Given the description of an element on the screen output the (x, y) to click on. 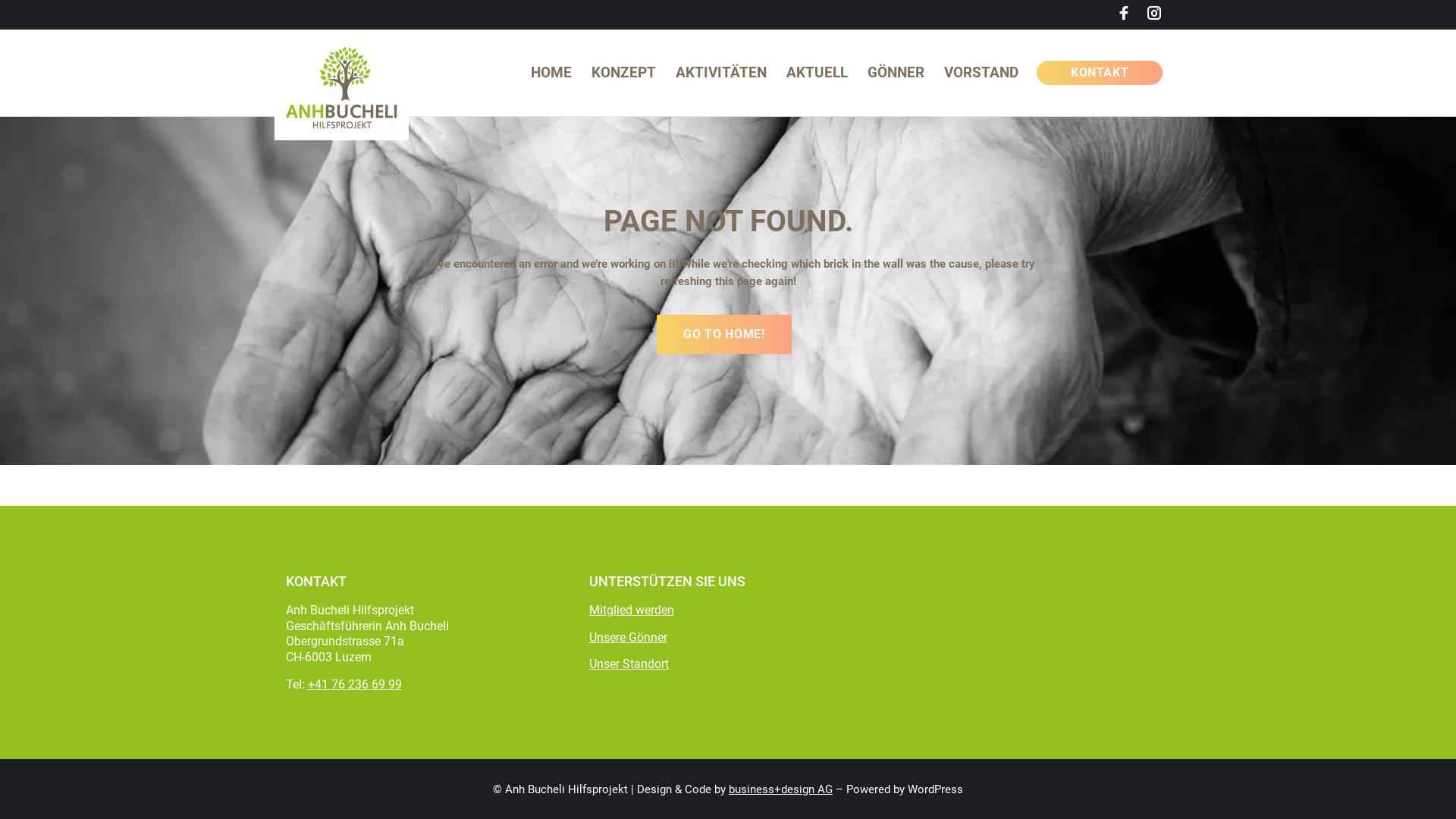
business+design AG Element type: text (780, 789)
HOME Element type: text (550, 73)
KONTAKT Element type: text (1099, 72)
+41 76 236 69 99 Element type: text (354, 684)
GO TO HOME! Element type: text (723, 334)
